Given the description of an element on the screen output the (x, y) to click on. 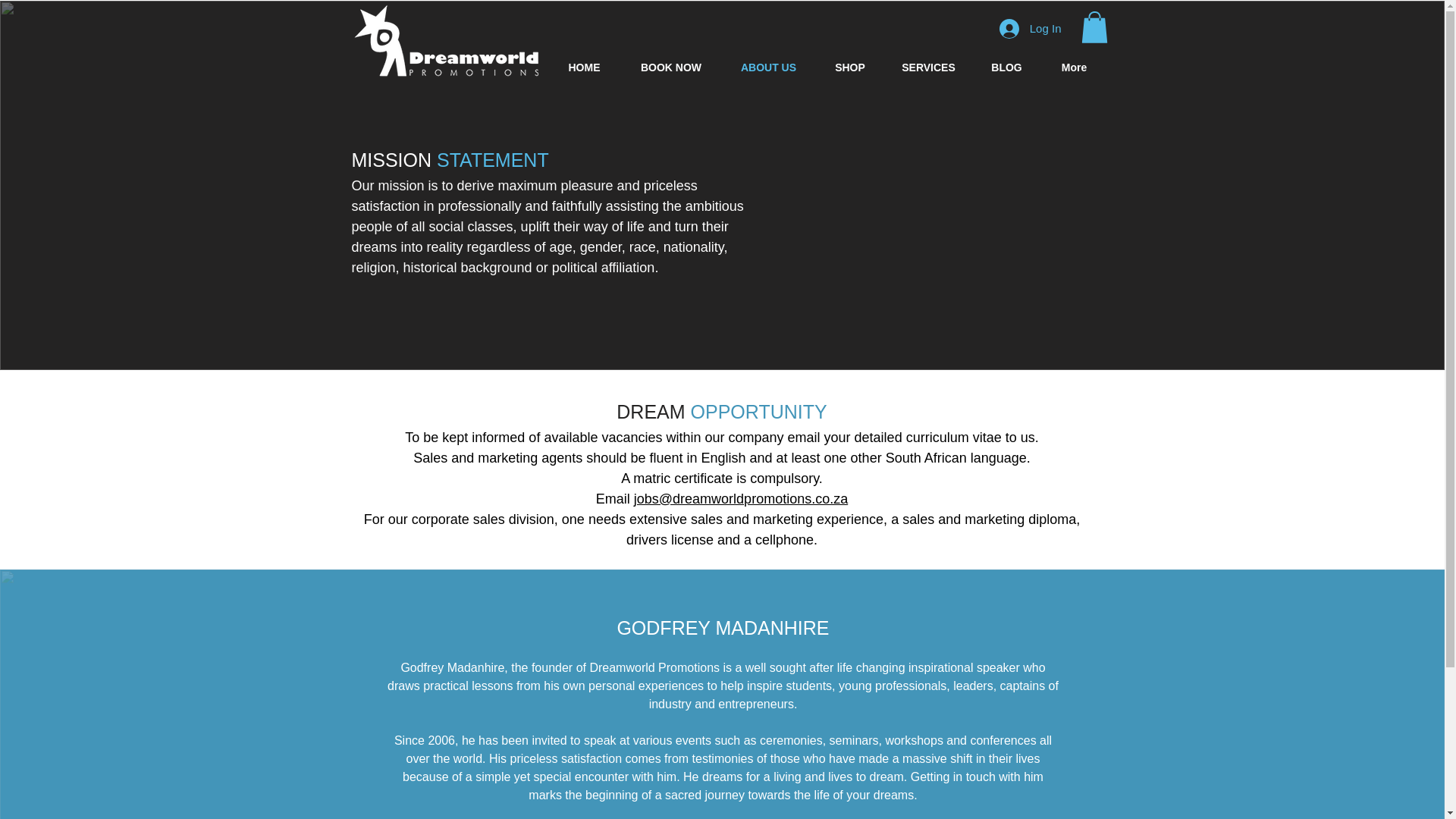
BOOK NOW (670, 67)
SHOP (850, 67)
SERVICES (927, 67)
HOME (583, 67)
ABOUT US (768, 67)
Log In (1029, 27)
BLOG (1006, 67)
